Given the description of an element on the screen output the (x, y) to click on. 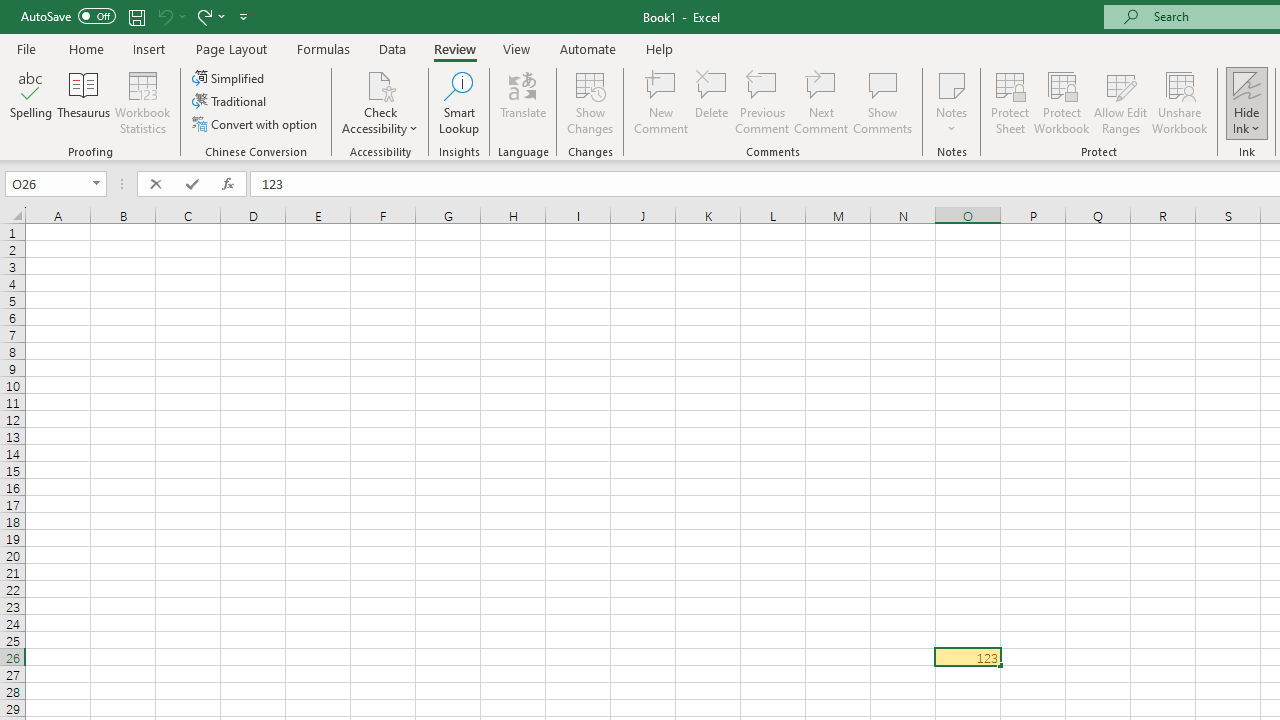
Help (660, 48)
File Tab (26, 48)
Edit Cell (966, 657)
Name Box (56, 183)
Data (392, 48)
Name Box (46, 183)
Simplified (230, 78)
Workbook Statistics (142, 102)
Undo (164, 15)
Undo (170, 15)
Spelling... (31, 102)
Redo (209, 15)
Smart Lookup (459, 102)
Delete (712, 102)
Automate (588, 48)
